Given the description of an element on the screen output the (x, y) to click on. 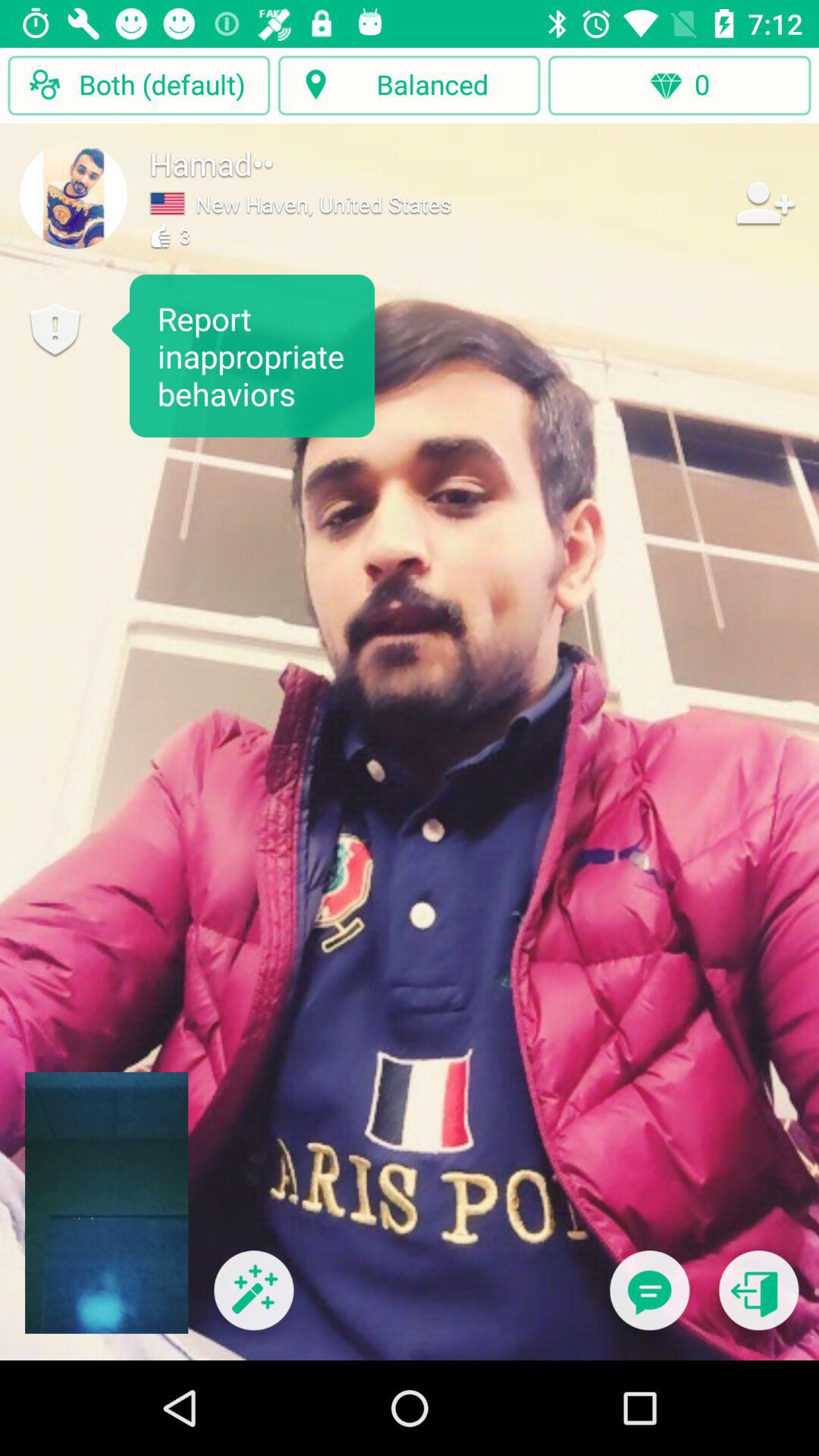
go back (758, 1300)
